Given the description of an element on the screen output the (x, y) to click on. 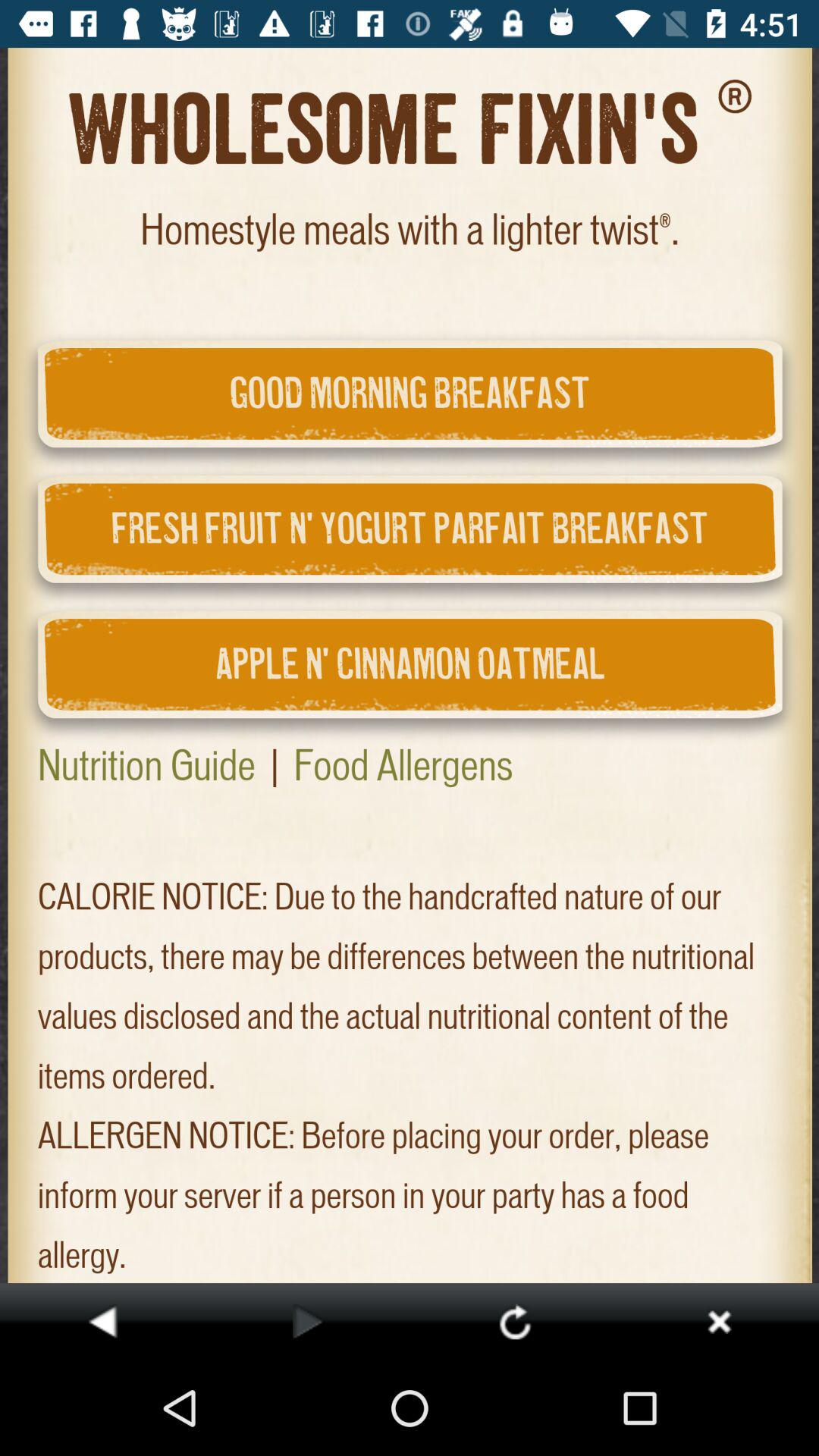
close tab (719, 1321)
